Given the description of an element on the screen output the (x, y) to click on. 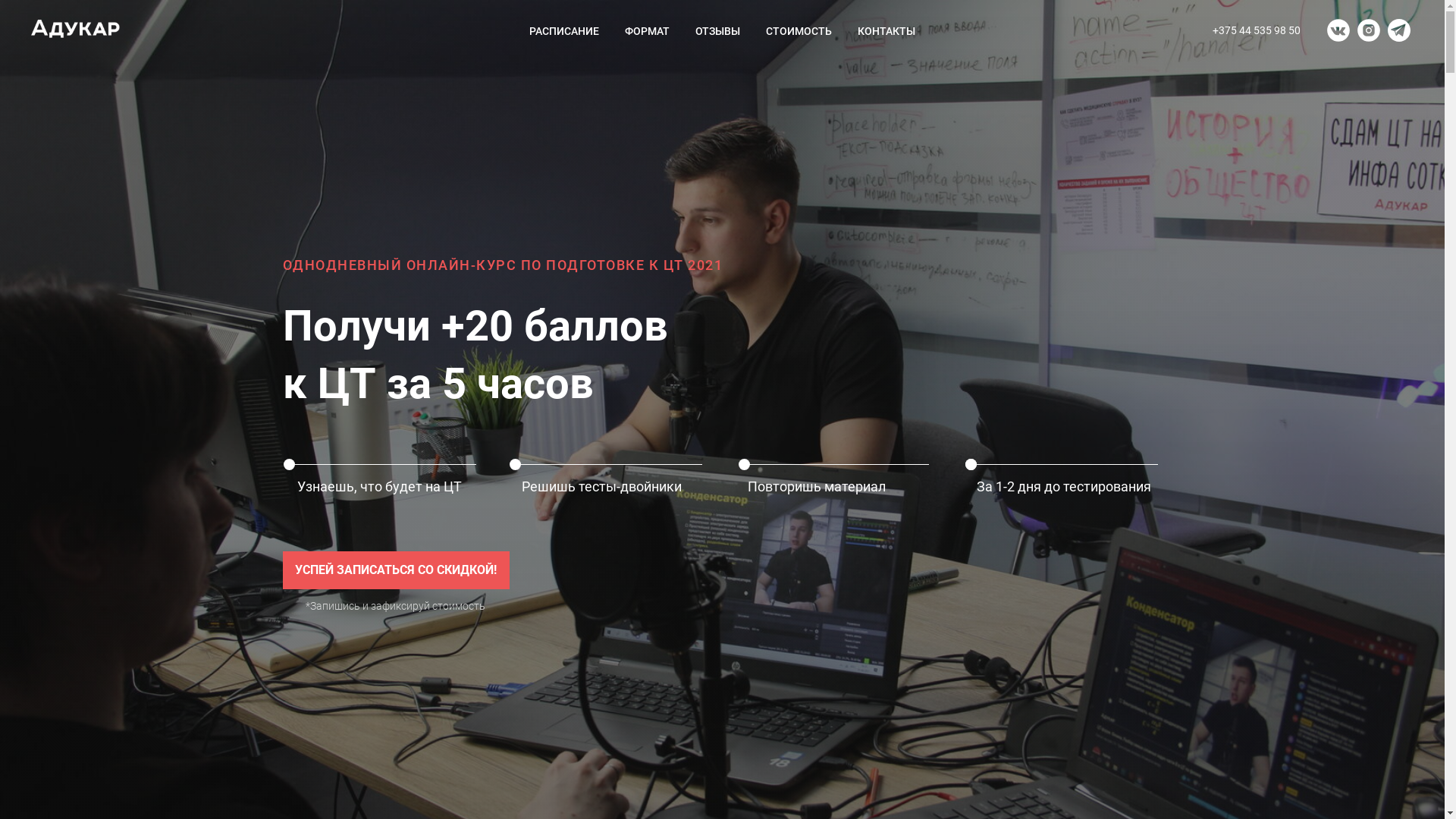
Telegram Element type: text (1398, 29)
Instagram Element type: text (1368, 29)
+375 44 535 98 50 Element type: text (1256, 30)
